Given the description of an element on the screen output the (x, y) to click on. 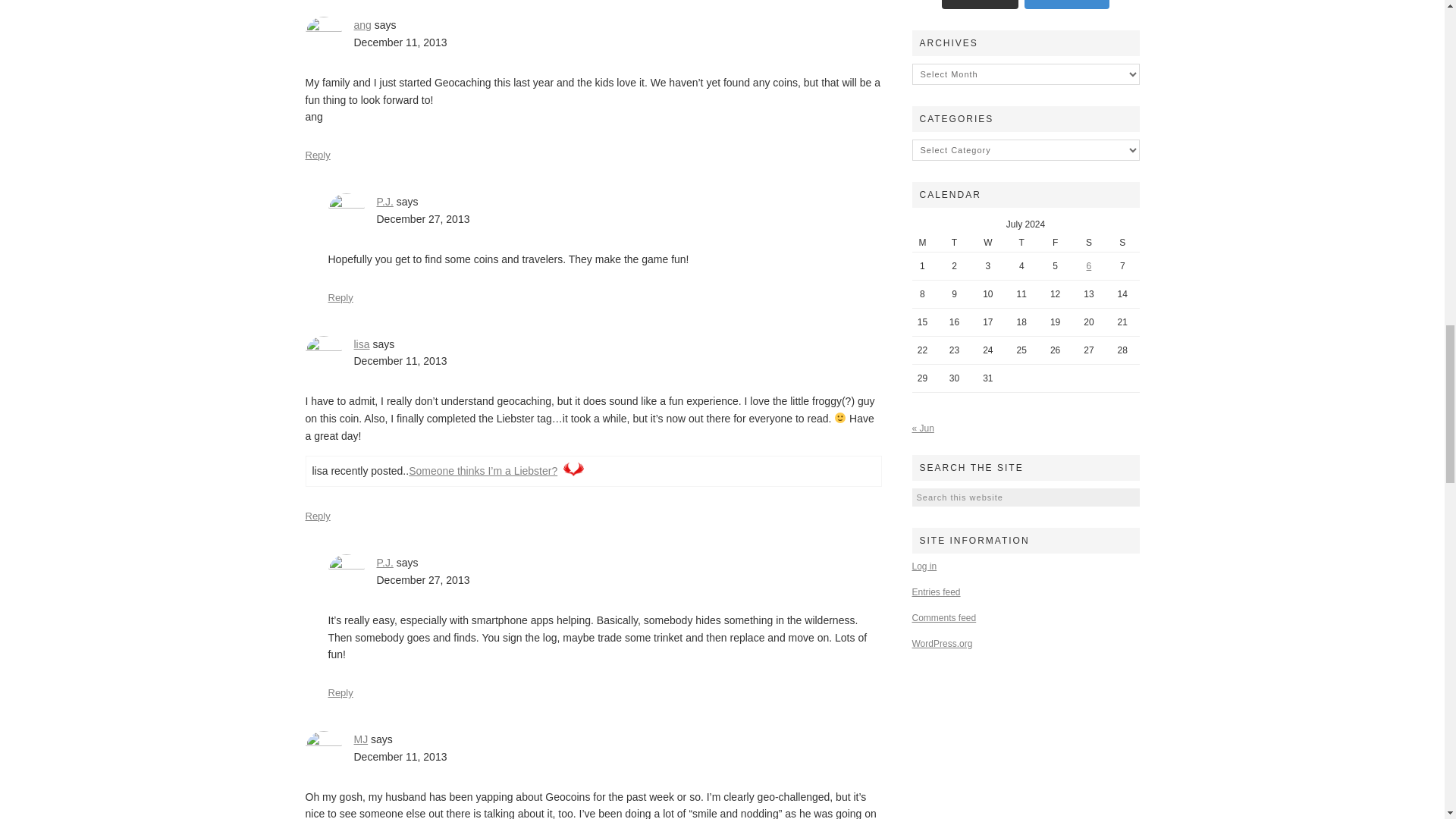
Sunday (1121, 242)
Reply (317, 154)
Thursday (1021, 242)
Saturday (1088, 242)
Monday (924, 242)
ang (362, 24)
Reply (339, 297)
Wednesday (987, 242)
Tuesday (954, 242)
lisa (361, 344)
Friday (1054, 242)
P.J. (384, 201)
